Given the description of an element on the screen output the (x, y) to click on. 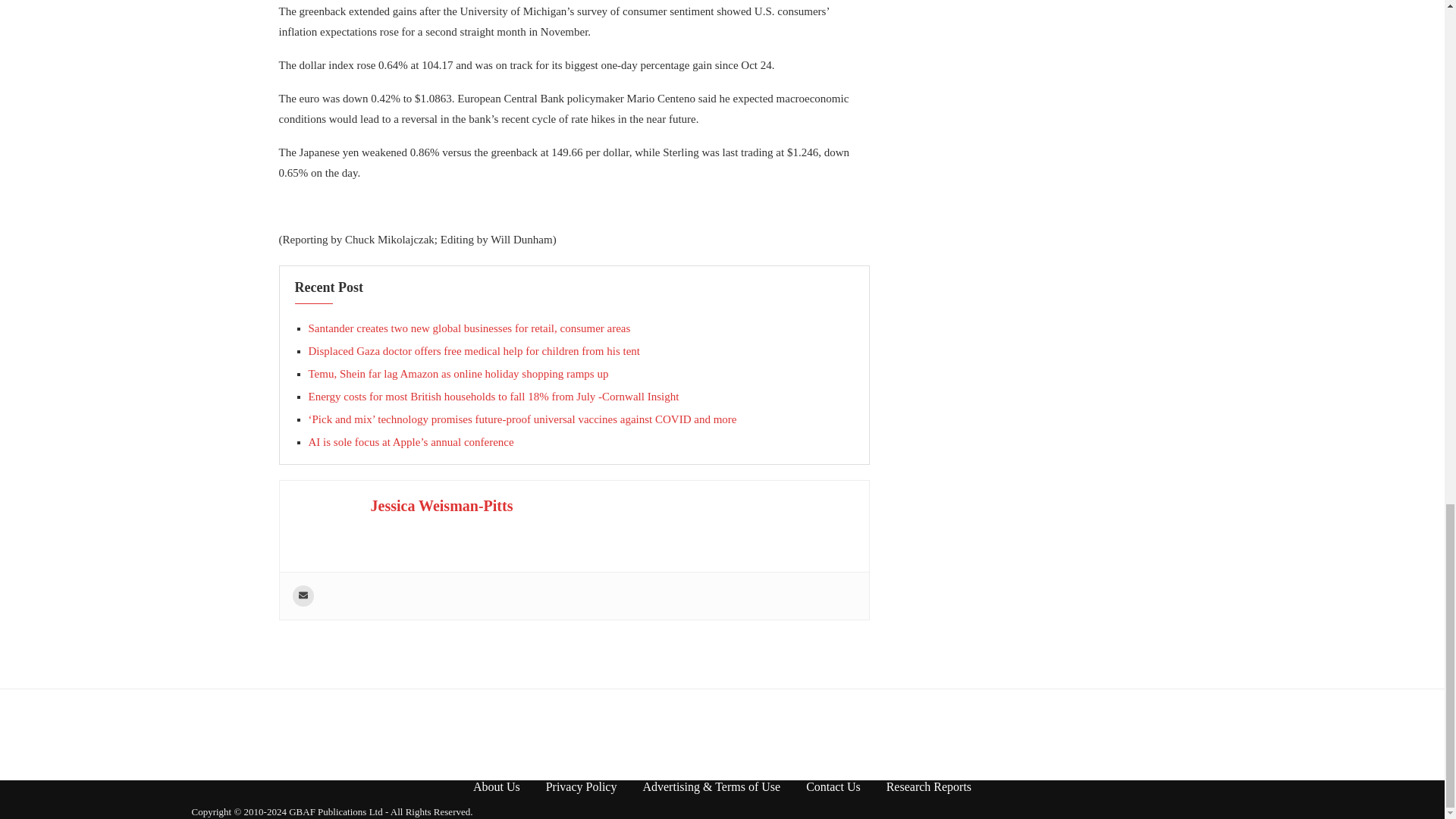
User email (303, 595)
